Given the description of an element on the screen output the (x, y) to click on. 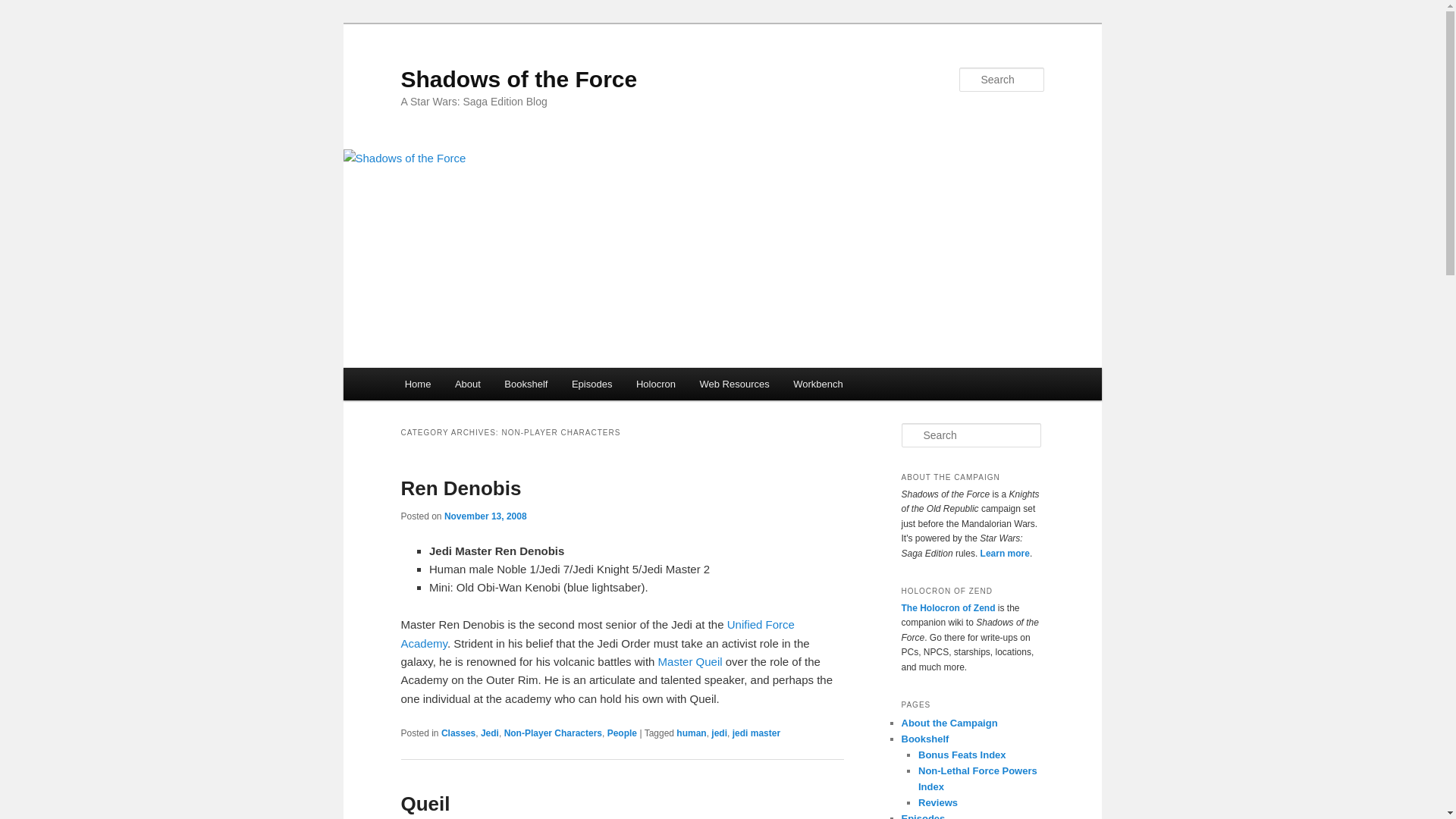
human (691, 733)
Shadows of the Force (518, 78)
Non-Player Characters (552, 733)
jedi master (756, 733)
Episodes (591, 383)
Classes (458, 733)
Bookshelf (526, 383)
November 13, 2008 (485, 516)
Queil (424, 803)
Search (24, 8)
Master Queil (690, 661)
Jedi (489, 733)
Home (417, 383)
About (467, 383)
11:09 am (485, 516)
